Given the description of an element on the screen output the (x, y) to click on. 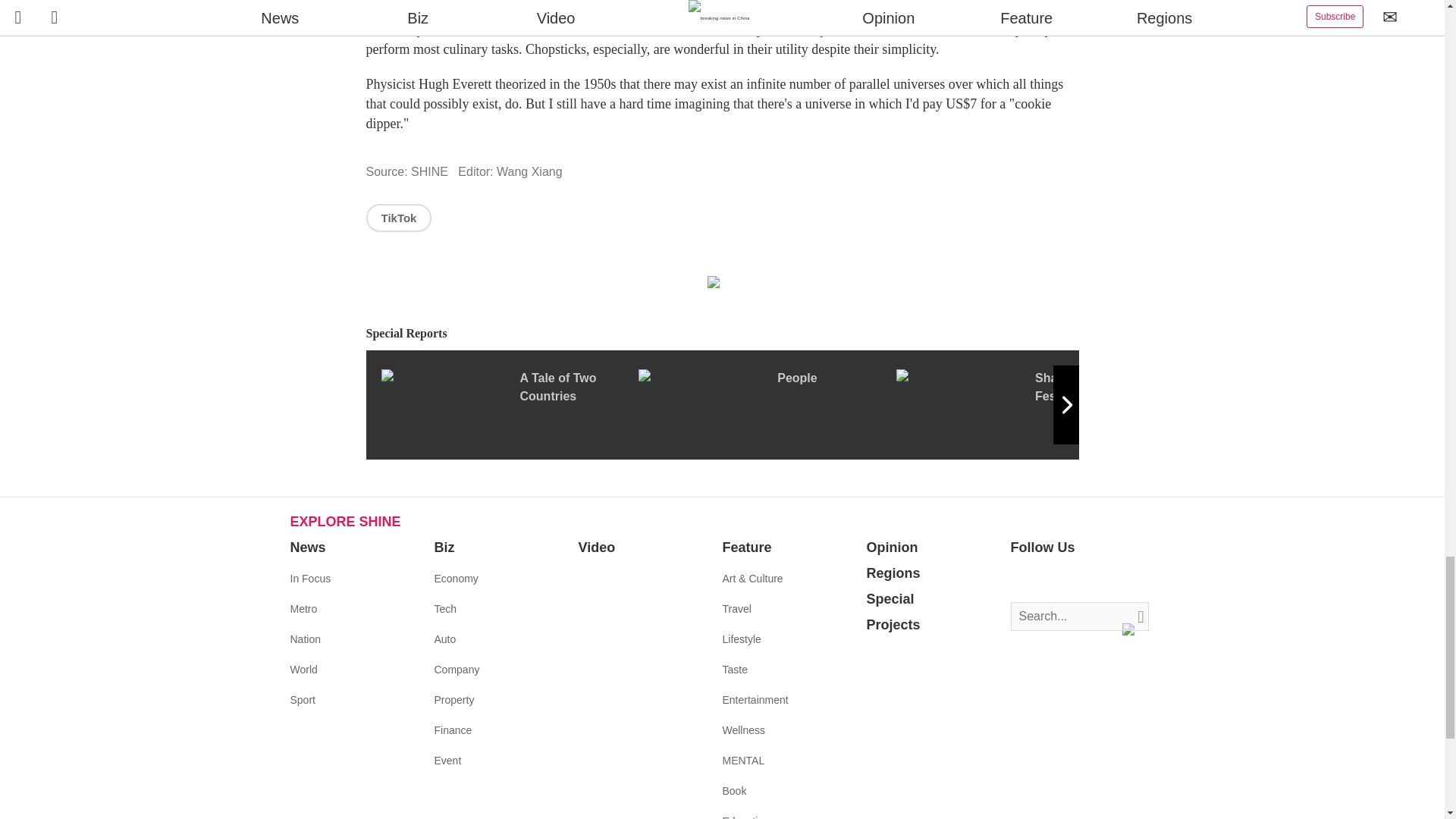
Follow us on Facebook (1021, 579)
News (306, 547)
Follow us on Twitter (1044, 579)
Follow us on Instagram (1067, 579)
Shanghai Tourism Festival (1024, 404)
People (767, 404)
TikTok (397, 217)
Follow us on Wechat (1112, 579)
Special Reports (721, 334)
A Tale of Two Countries (508, 404)
Follow us on Youtube (1090, 579)
